Given the description of an element on the screen output the (x, y) to click on. 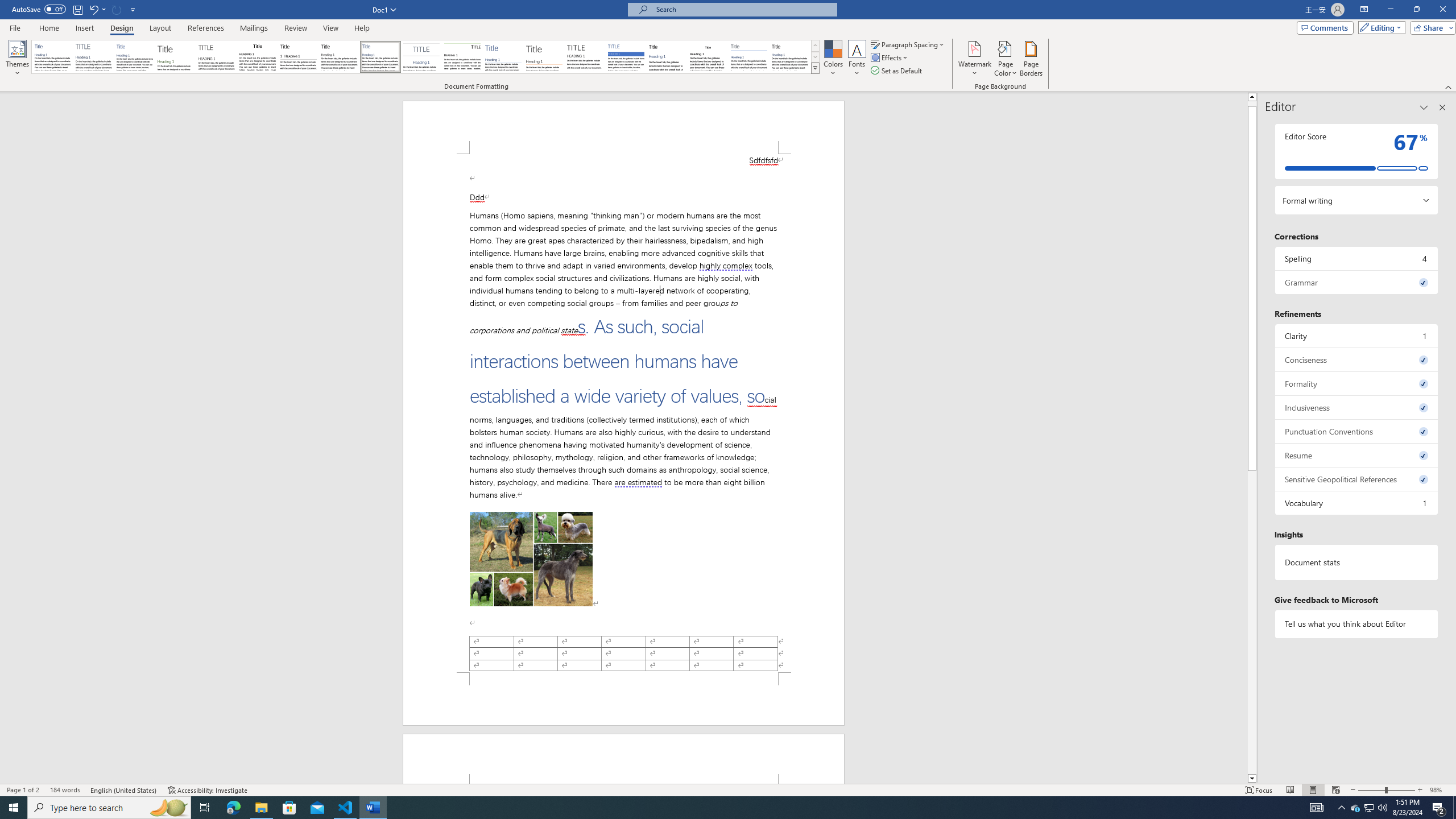
Lines (Simple) (503, 56)
Basic (Elegant) (93, 56)
Conciseness, 0 issues. Press space or enter to review items. (1356, 359)
Page down (1251, 619)
Shaded (625, 56)
Document (52, 56)
Lines (Stylish) (544, 56)
Vocabulary, 1 issue. Press space or enter to review items. (1356, 502)
